Given the description of an element on the screen output the (x, y) to click on. 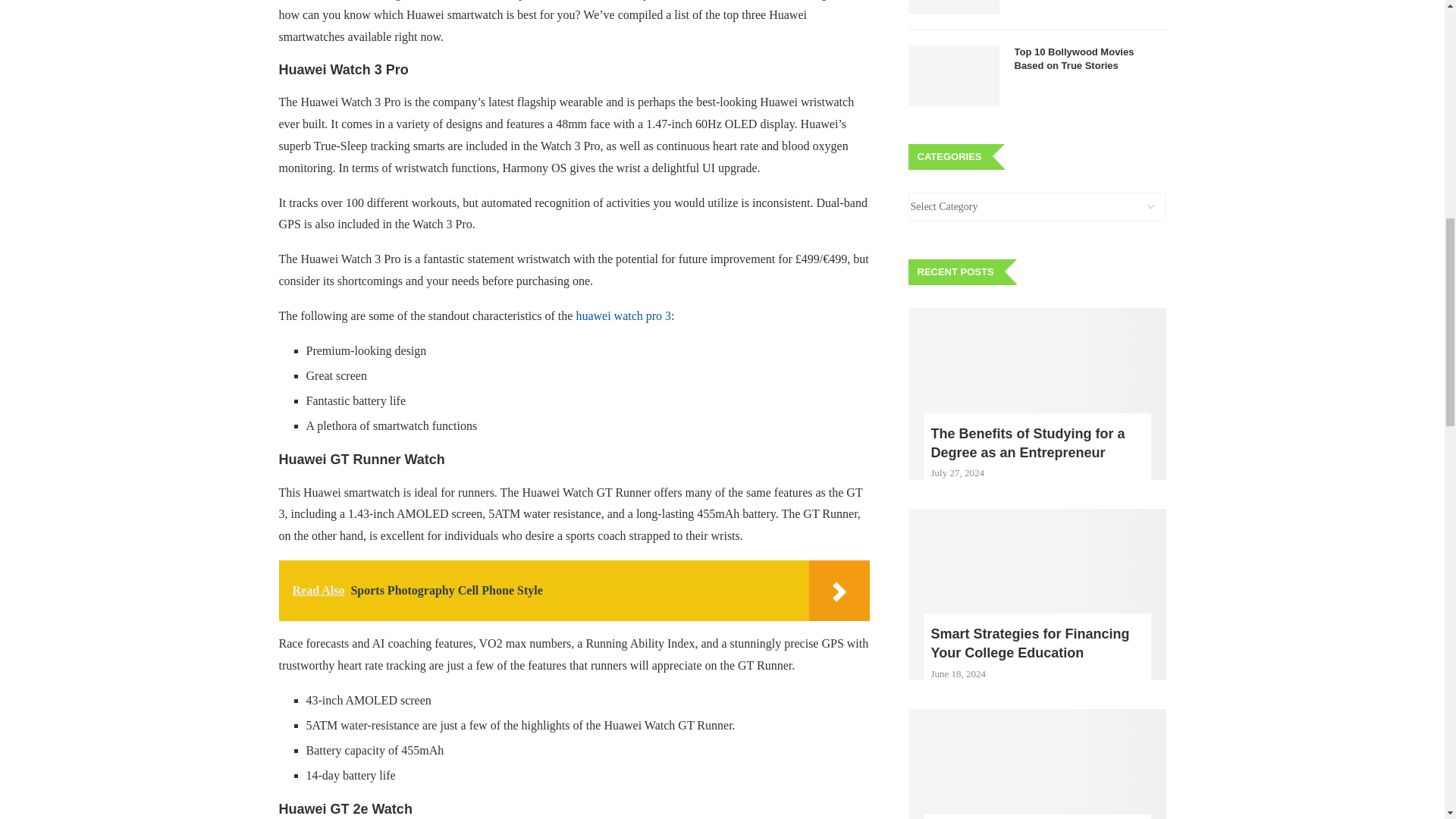
huawei watch pro 3 (623, 315)
Read Also  Sports Photography Cell Phone Style (574, 590)
